Given the description of an element on the screen output the (x, y) to click on. 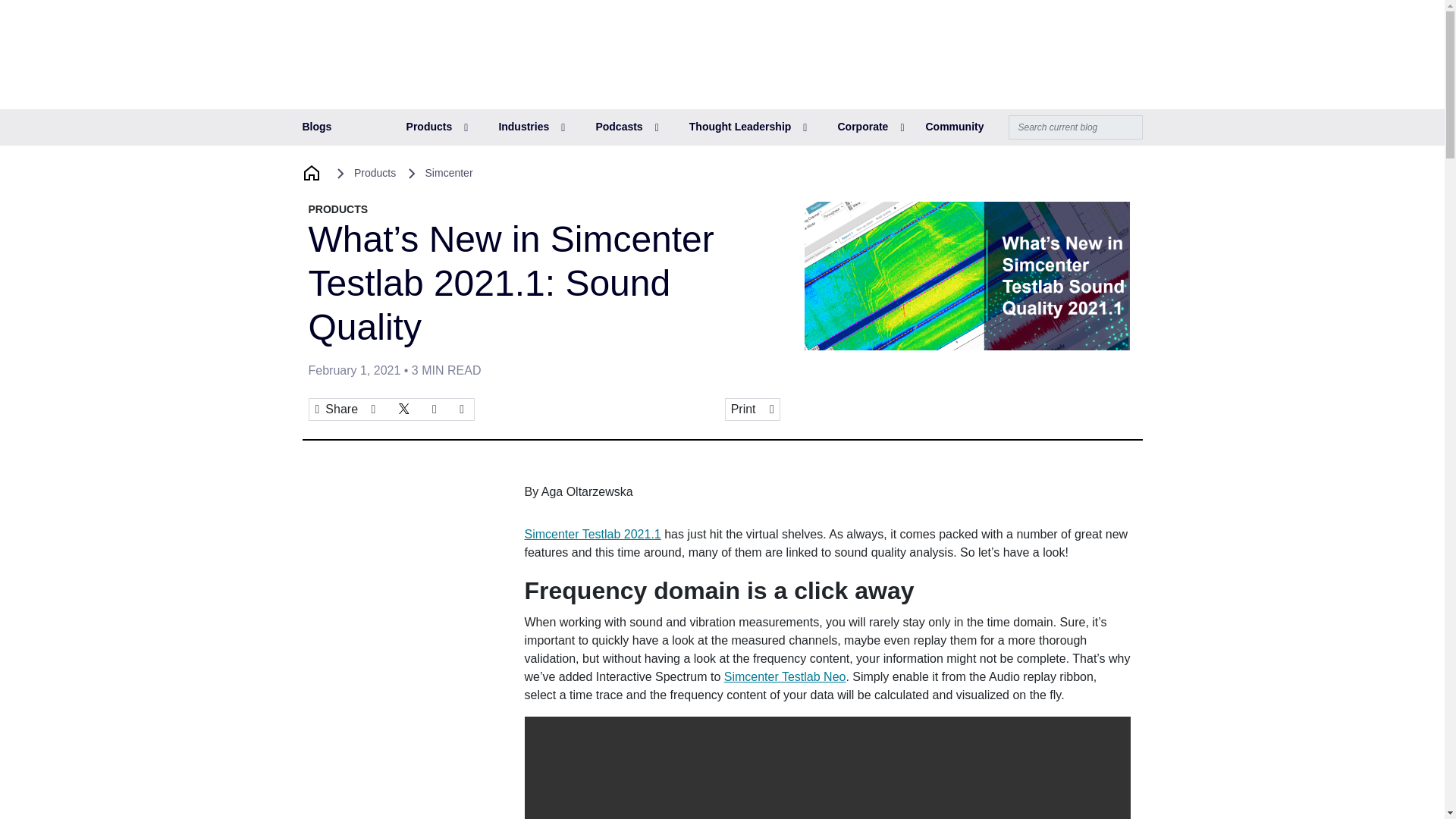
Products (437, 127)
Log in (1050, 31)
Products (437, 127)
Blogs (316, 127)
Log in (1050, 31)
